Given the description of an element on the screen output the (x, y) to click on. 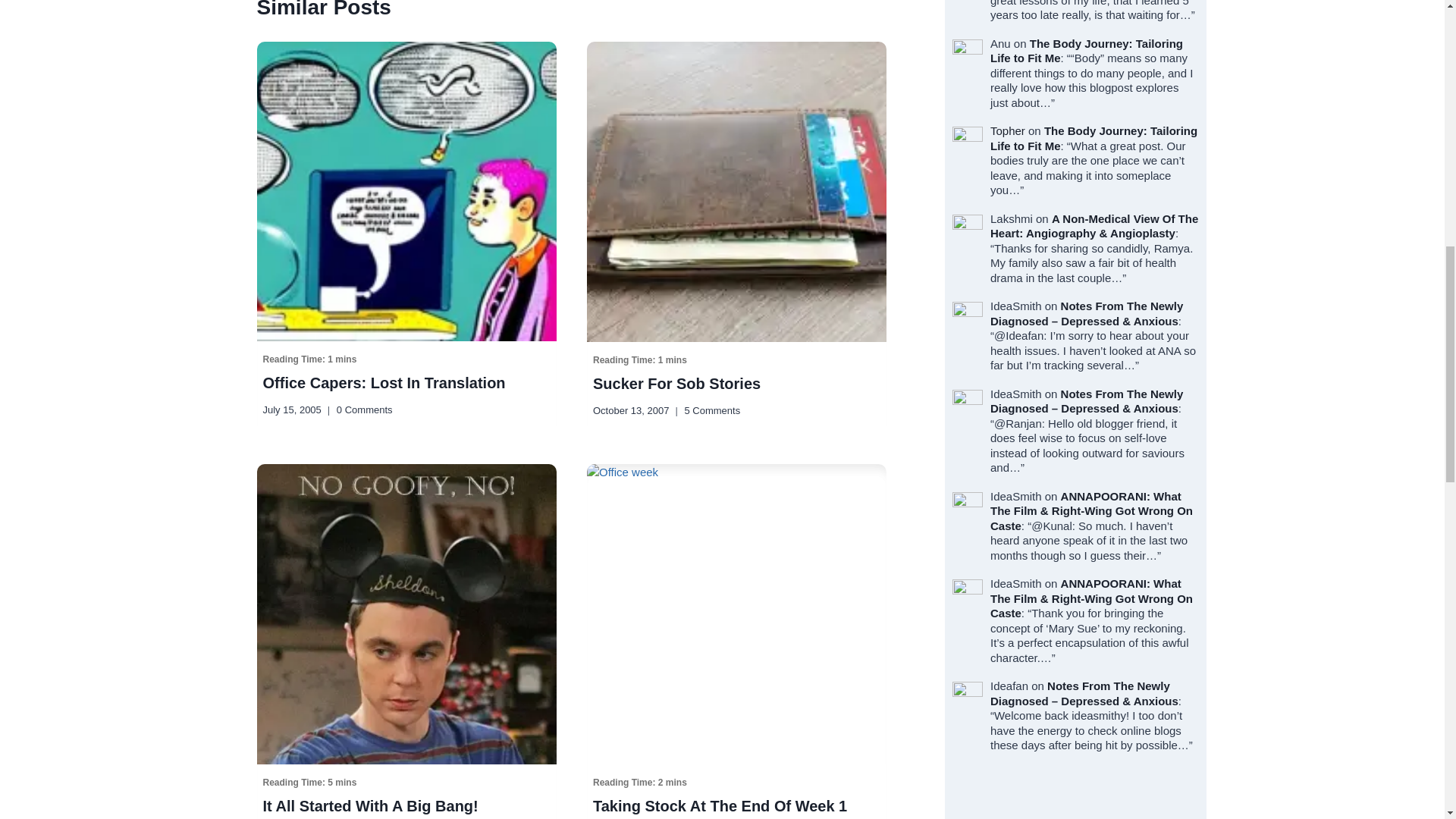
5 Comments (711, 410)
5 Comments (711, 410)
0 Comments (364, 410)
Sucker For Sob Stories (736, 370)
0 Comments (364, 410)
Office Capers: Lost In Translation (406, 369)
